Given the description of an element on the screen output the (x, y) to click on. 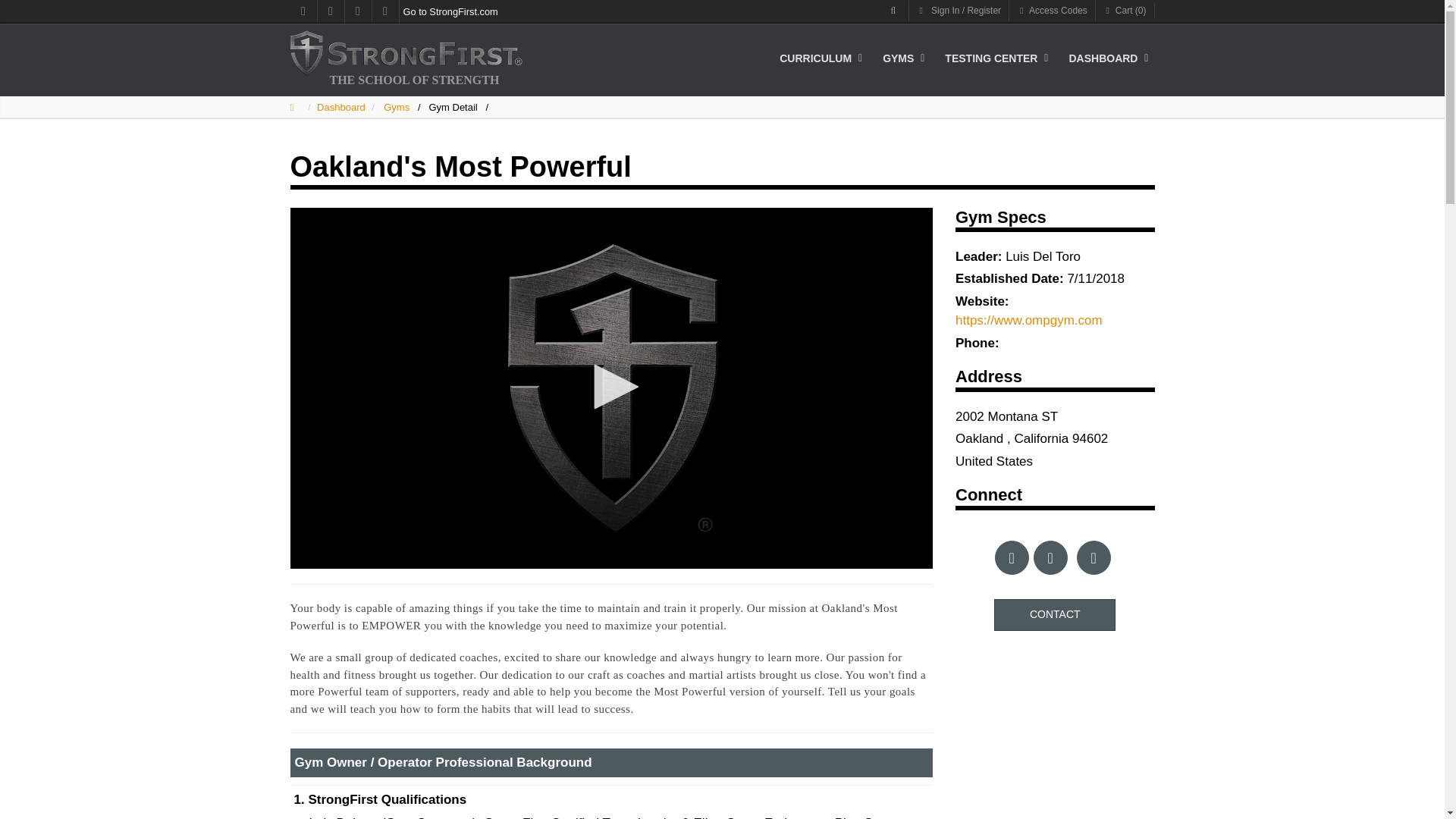
Go to StrongFirst.com (412, 11)
CURRICULUM (821, 58)
THE SCHOOL OF STRENGTH (414, 79)
DASHBOARD (1108, 58)
Access Codes (1052, 11)
Support (303, 11)
GYMS (904, 58)
TESTING CENTER (996, 58)
